Given the description of an element on the screen output the (x, y) to click on. 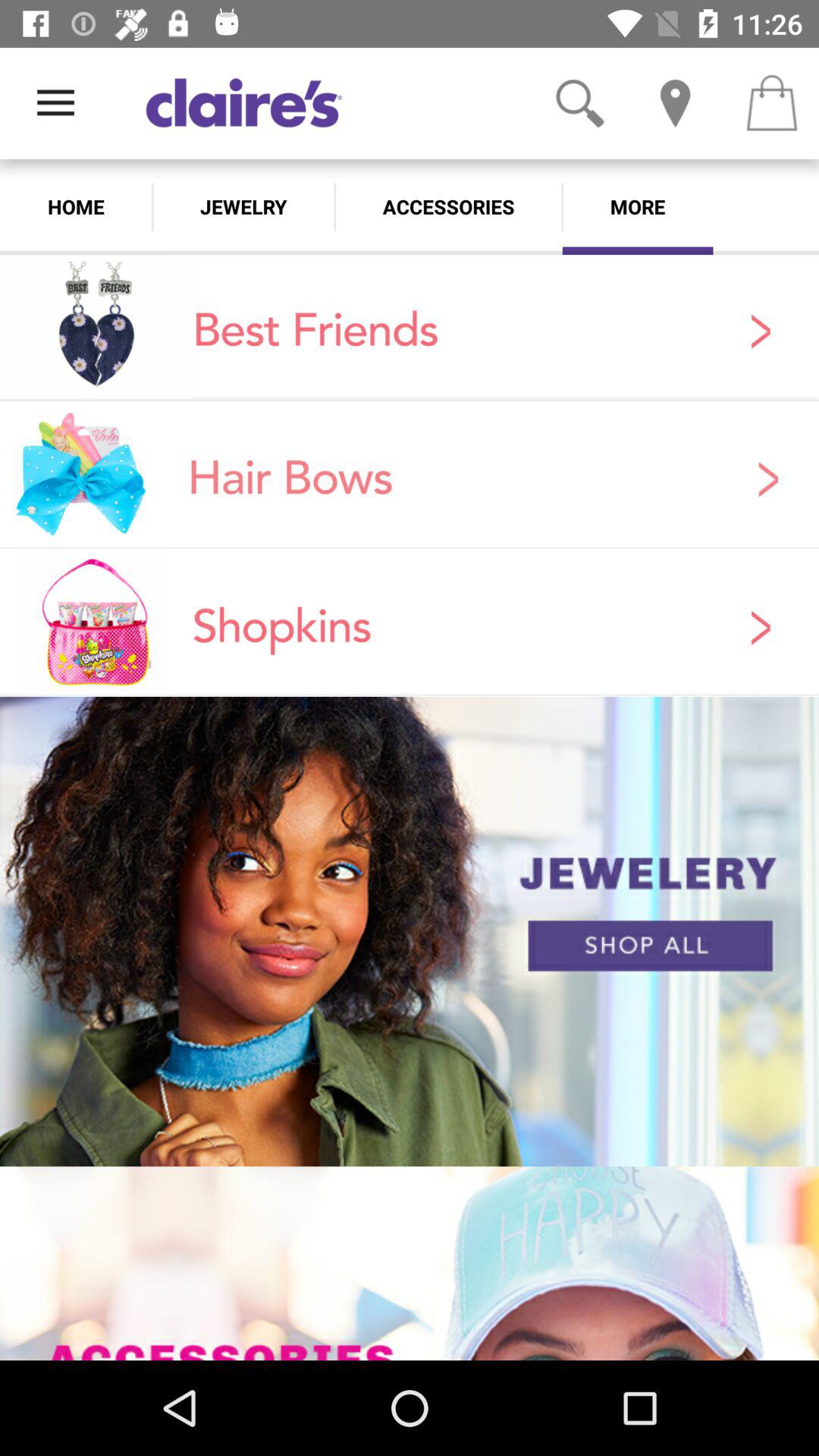
click the app to the left of accessories app (243, 206)
